Given the description of an element on the screen output the (x, y) to click on. 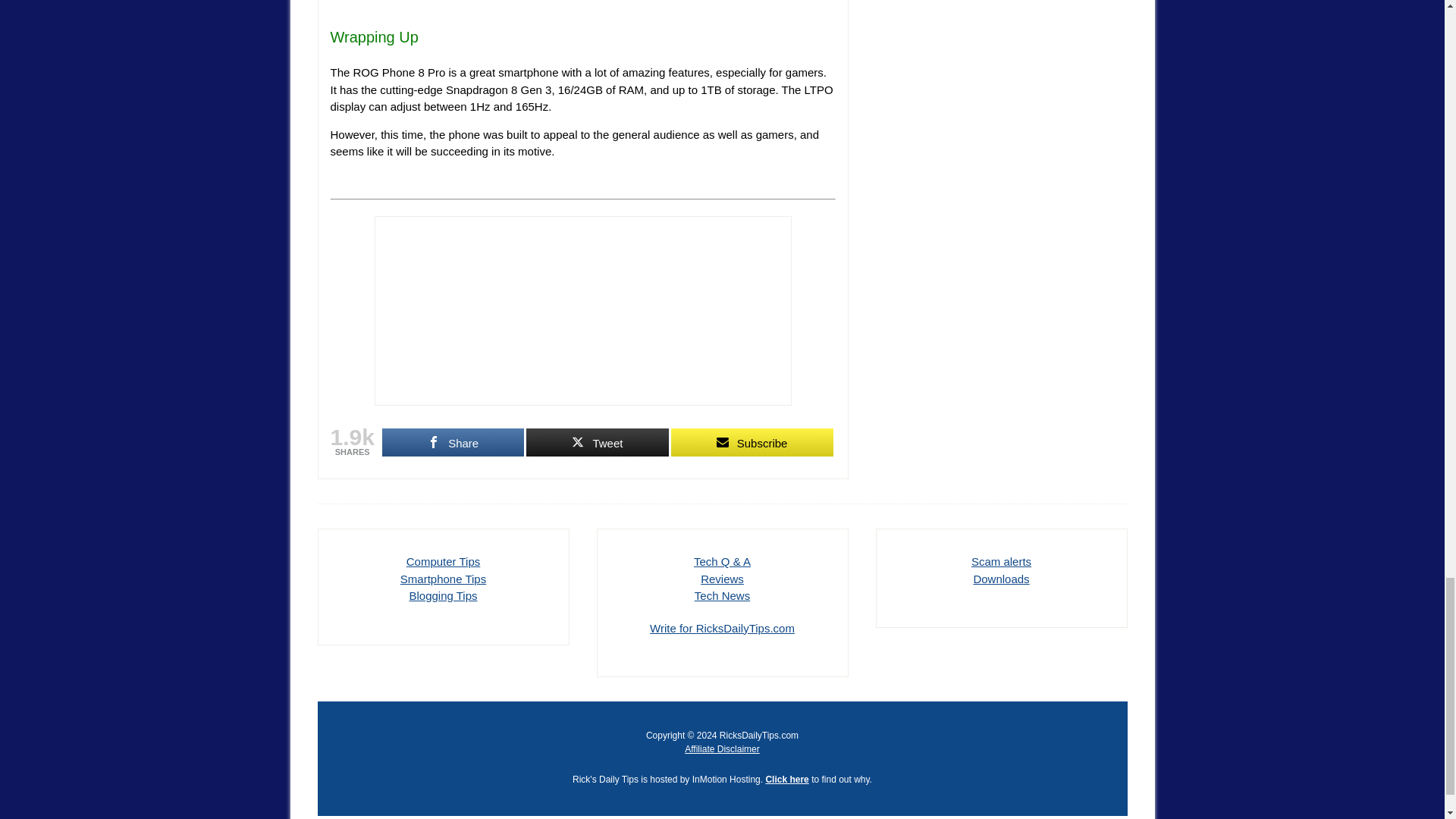
Computer Tips (443, 561)
Blogging Tips (443, 594)
Tweet (596, 442)
Smartphone Tips (443, 578)
Subscribe (751, 442)
Tech News (721, 594)
Share (452, 442)
Reviews (722, 578)
